Given the description of an element on the screen output the (x, y) to click on. 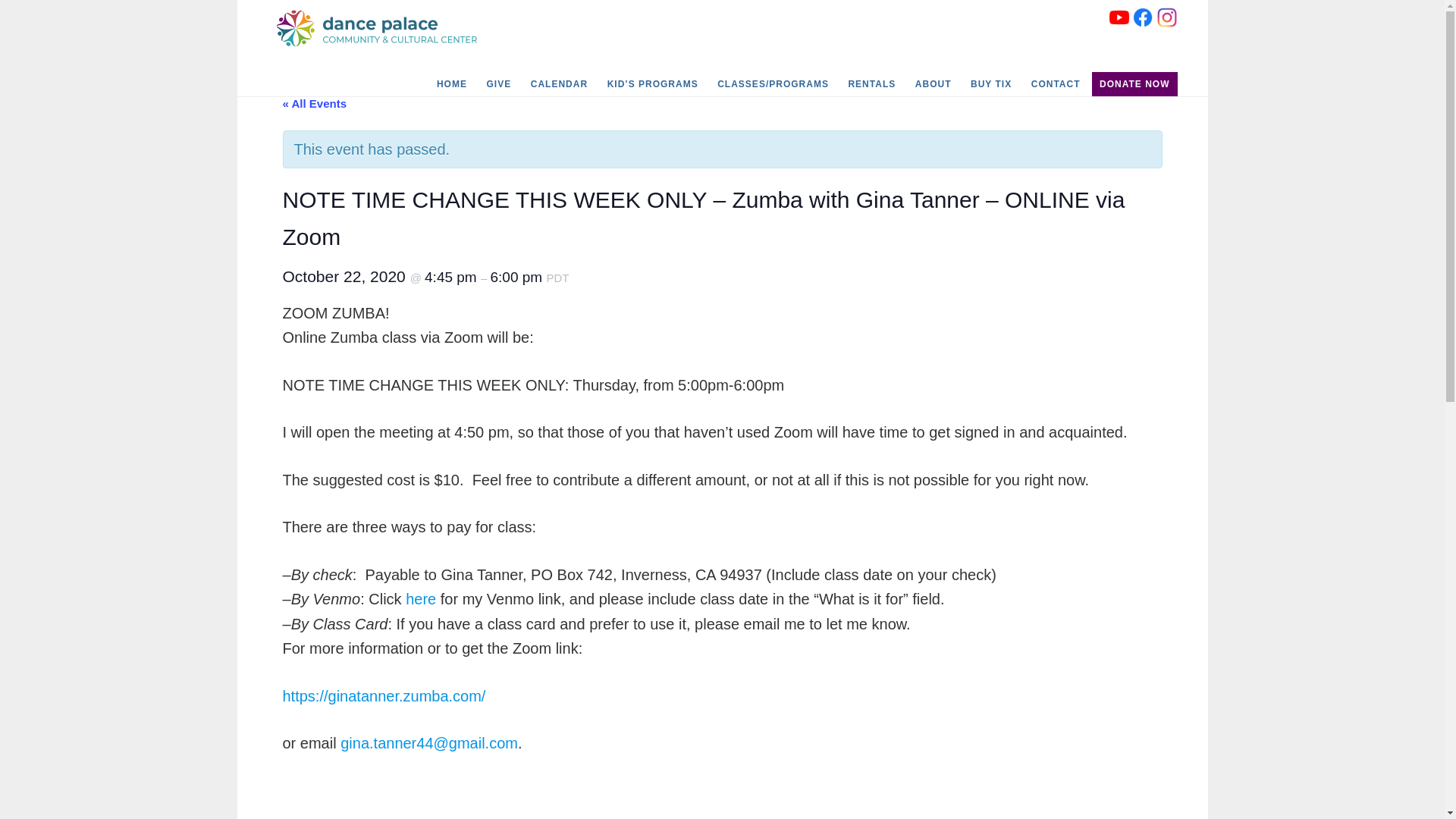
GIVE (498, 84)
HOME (451, 84)
THE DANCE PALACE (380, 28)
CALENDAR (558, 84)
